Given the description of an element on the screen output the (x, y) to click on. 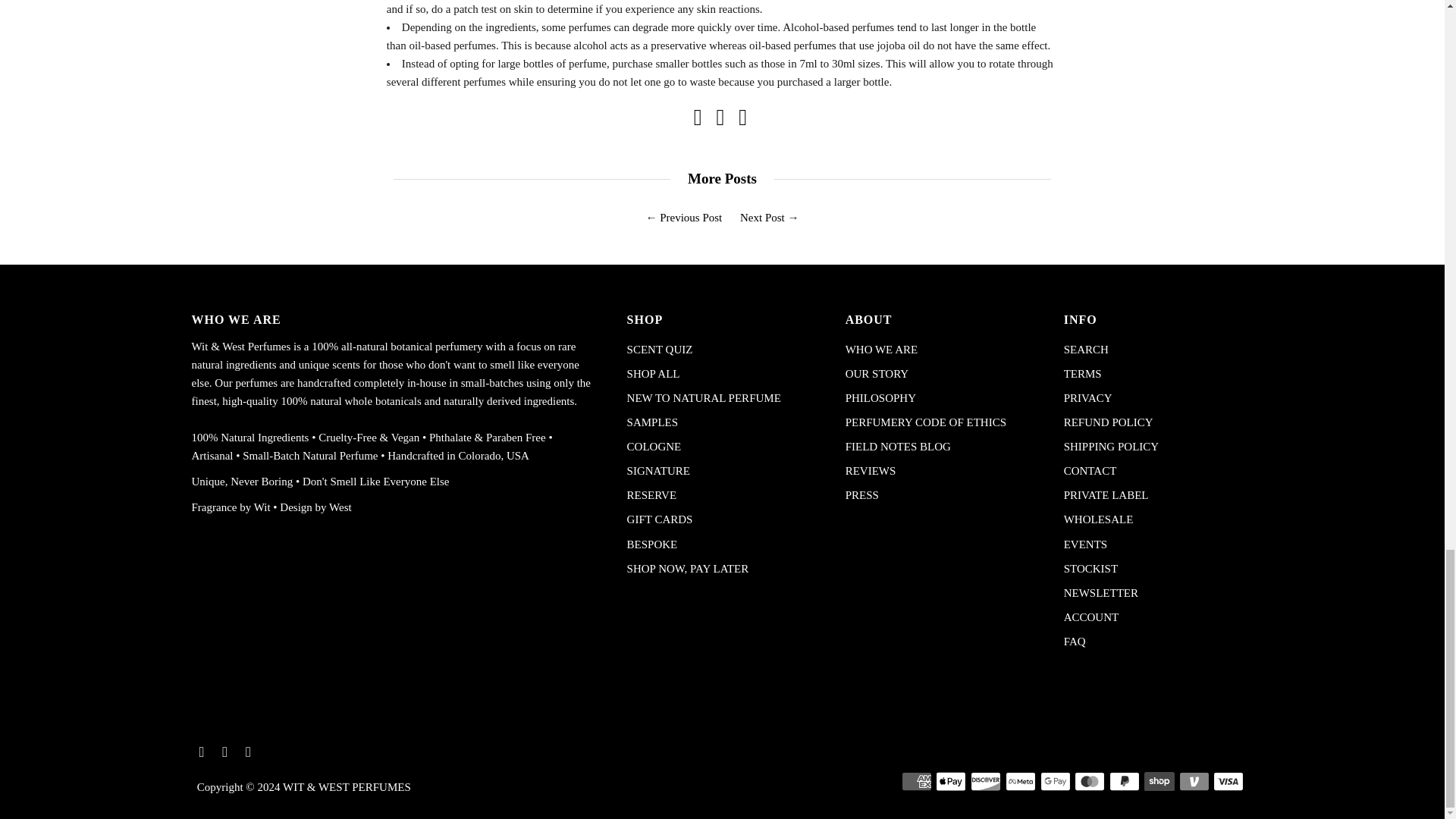
Mastercard (1089, 781)
Google Pay (1055, 781)
Shop Pay (1159, 781)
Meta Pay (1020, 781)
American Express (916, 781)
Share on Pinterest (742, 121)
Apple Pay (951, 781)
Venmo (1194, 781)
Discover (986, 781)
Visa (1227, 781)
Share on Facebook (697, 121)
PayPal (1124, 781)
Share on Twitter (719, 121)
